Given the description of an element on the screen output the (x, y) to click on. 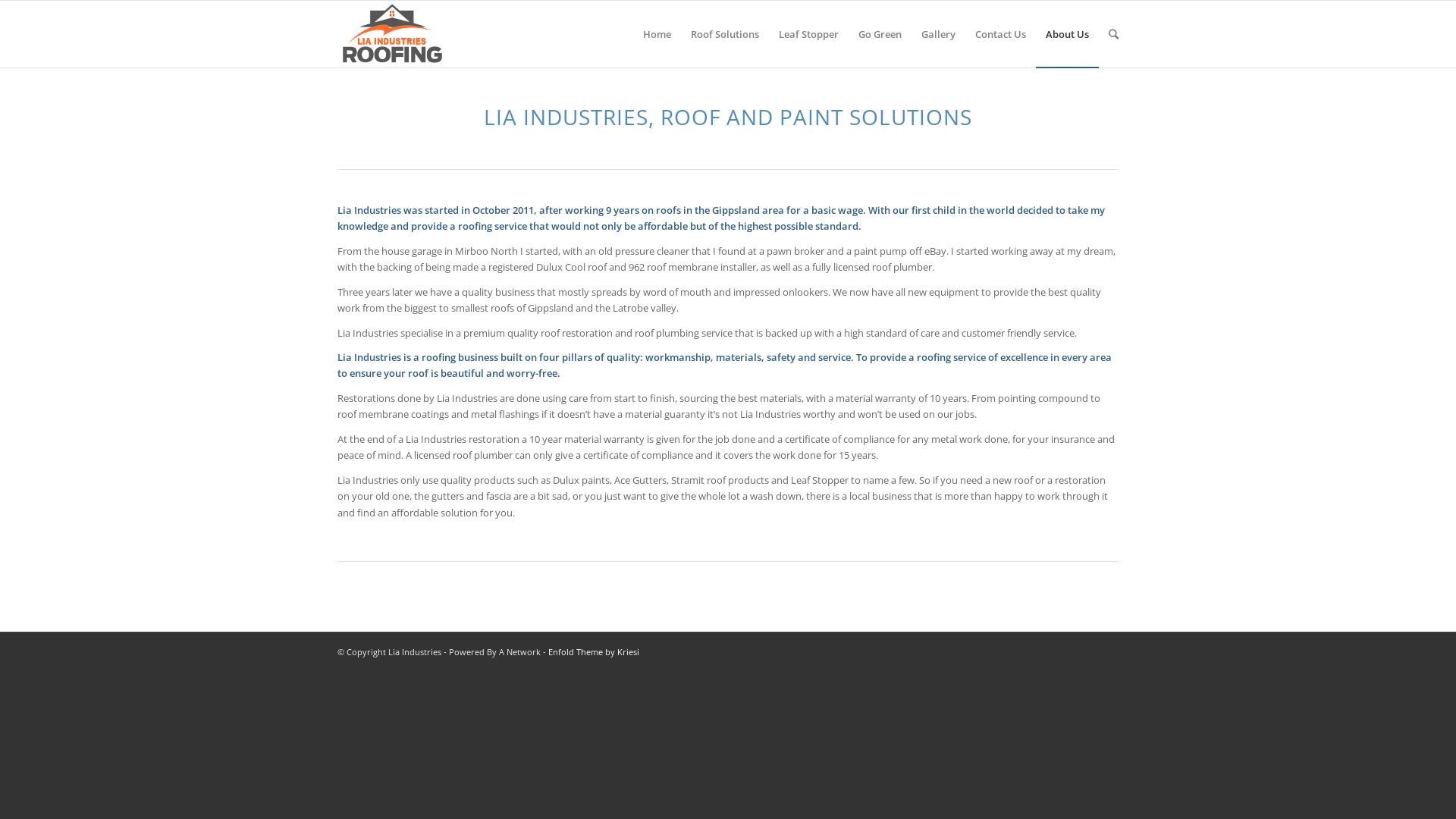
Roof Solutions Element type: text (724, 33)
About Us Element type: text (1066, 33)
Home Element type: text (656, 33)
Contact Us Element type: text (1000, 33)
Go Green Element type: text (879, 33)
Gallery Element type: text (938, 33)
Enfold Theme by Kriesi Element type: text (593, 651)
Leaf Stopper Element type: text (808, 33)
